Given the description of an element on the screen output the (x, y) to click on. 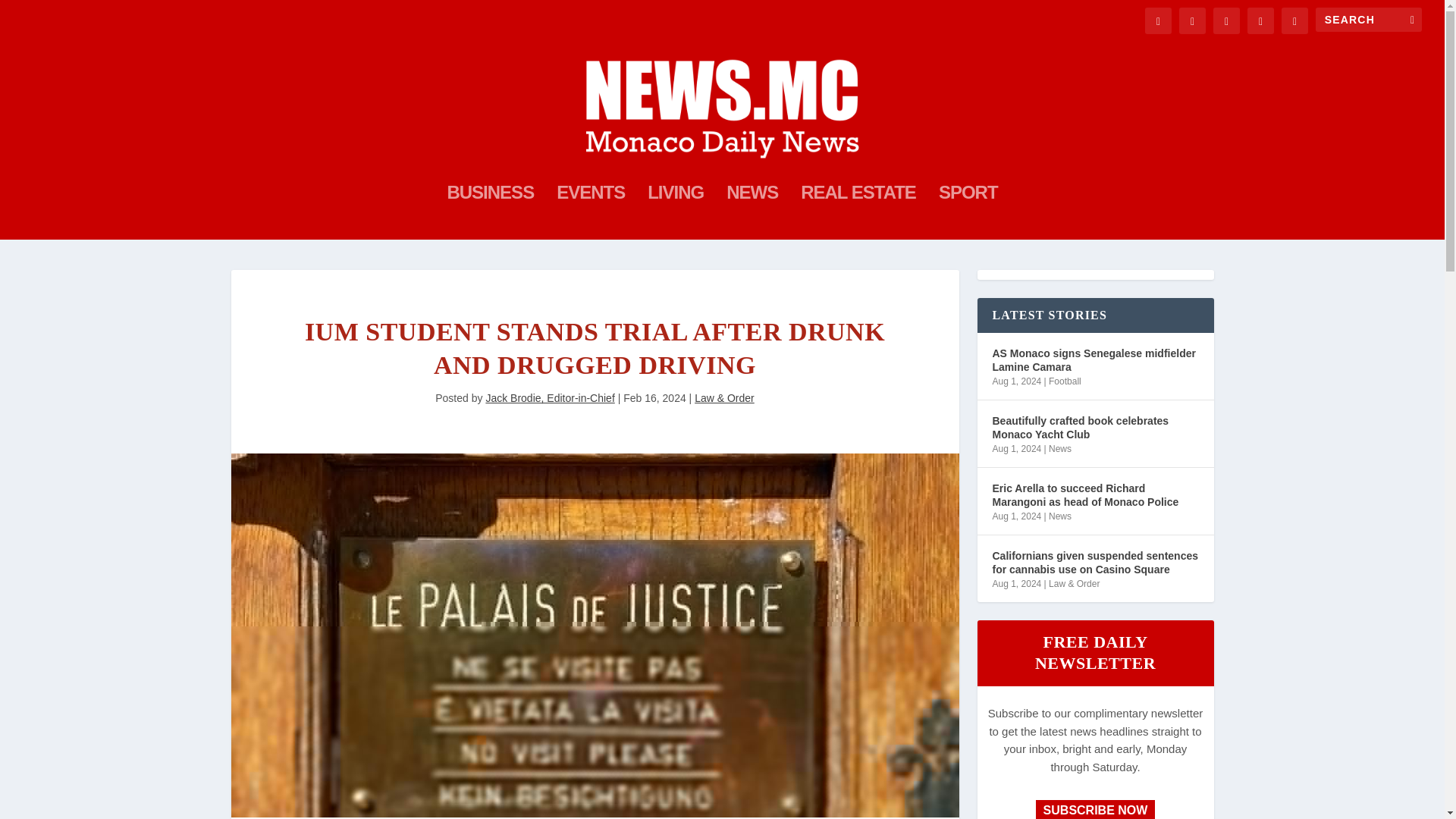
LIVING (675, 212)
Search for: (1369, 19)
Jack Brodie, Editor-in-Chief (549, 398)
AS Monaco signs Senegalese midfielder Lamine Camara (1094, 359)
Posts by Jack Brodie, Editor-in-Chief (549, 398)
BUSINESS (490, 212)
REAL ESTATE (857, 212)
NEWS (751, 212)
EVENTS (590, 212)
SPORT (968, 212)
